Given the description of an element on the screen output the (x, y) to click on. 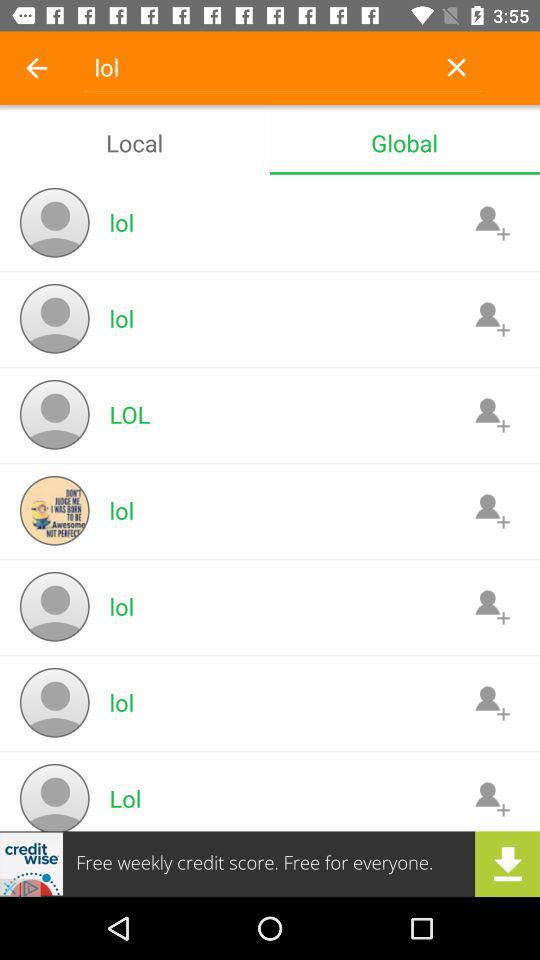
add entry information (492, 797)
